Given the description of an element on the screen output the (x, y) to click on. 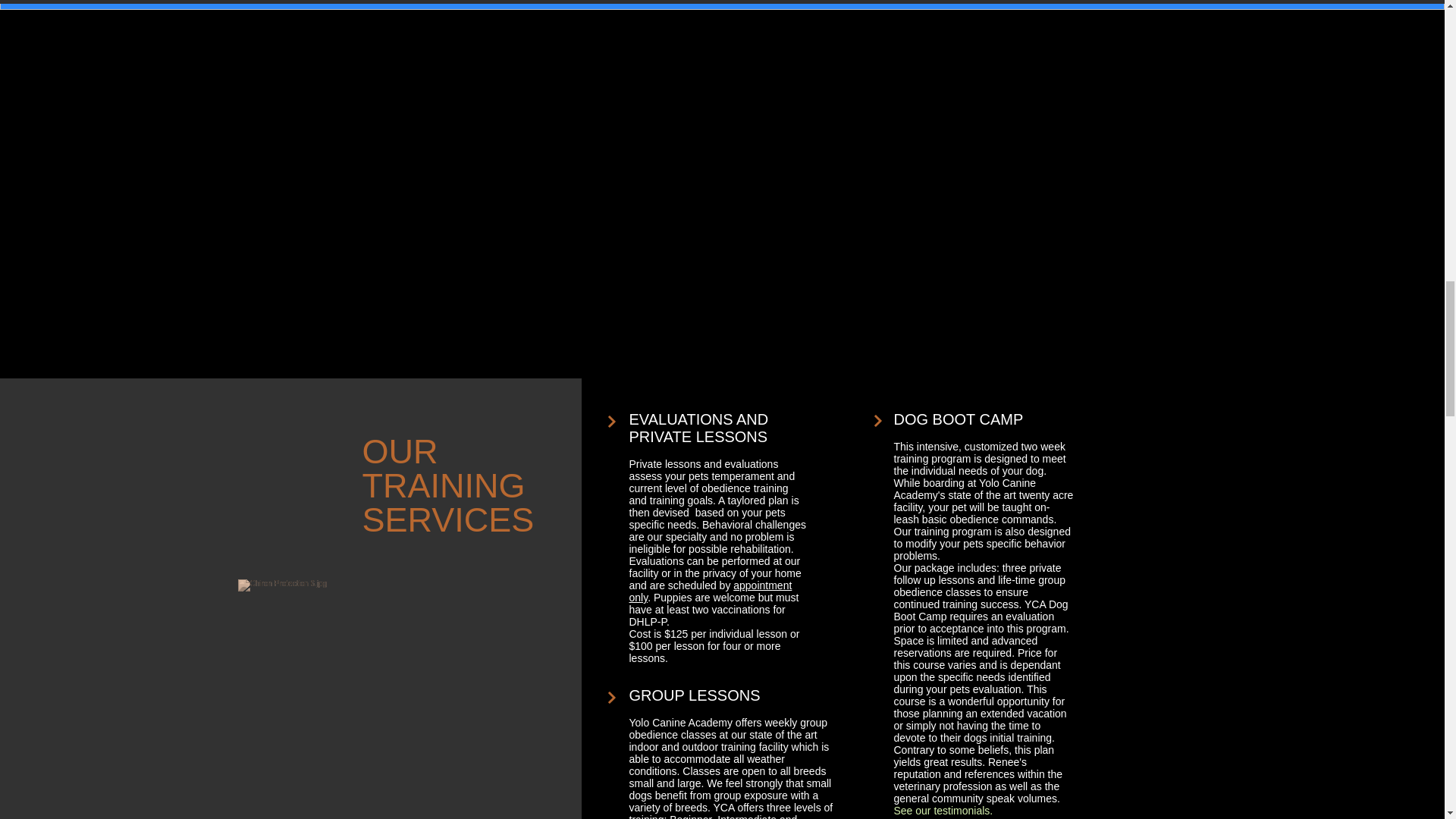
External YouTube (908, 155)
External YouTube (532, 155)
appointment only (710, 591)
